Given the description of an element on the screen output the (x, y) to click on. 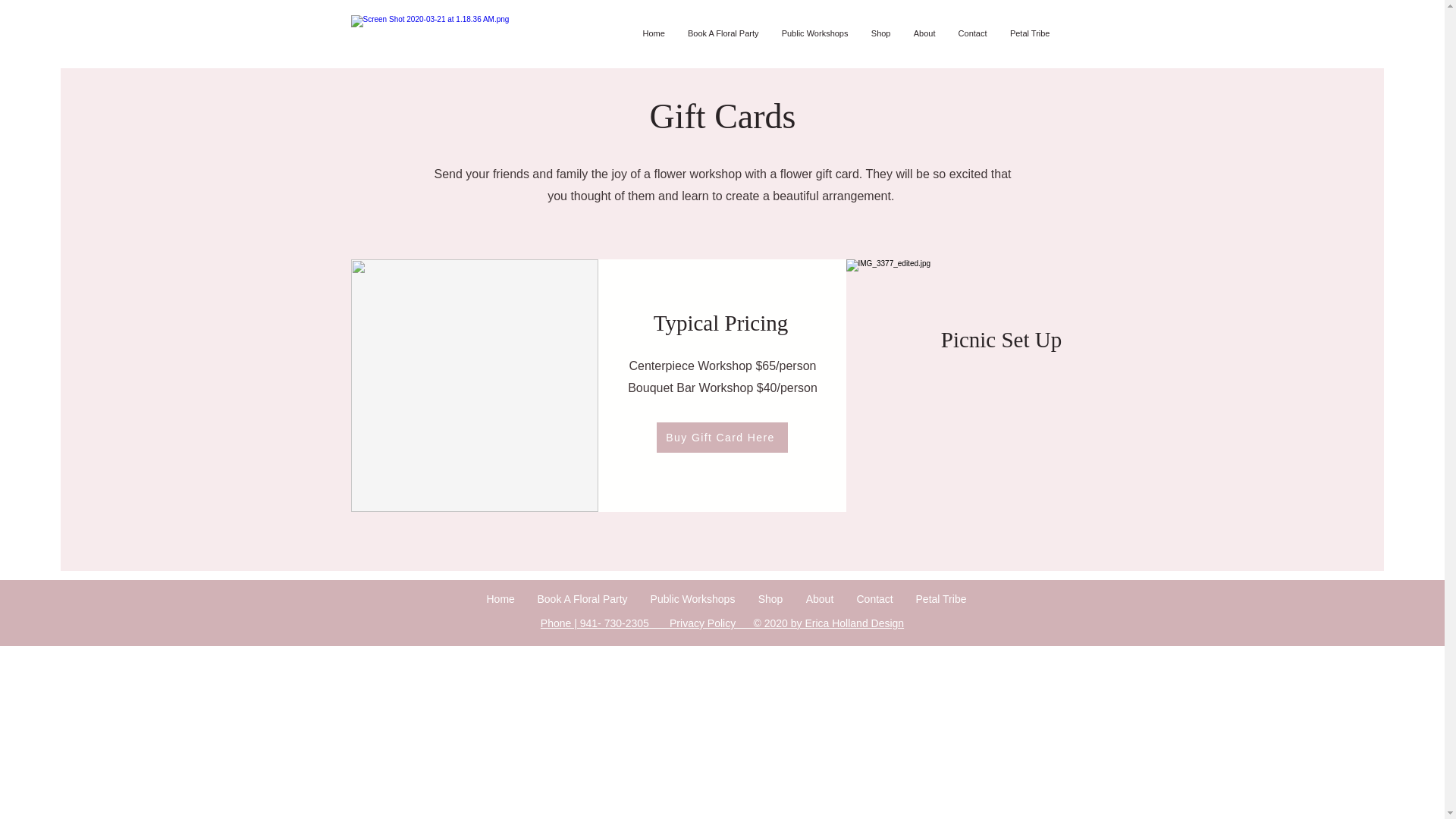
Book A Floral Party (582, 598)
Shop (769, 598)
About (924, 33)
Contact (971, 33)
Shop (881, 33)
Home (499, 598)
Home (652, 33)
Petal Tribe (940, 598)
Petal Tribe (1029, 33)
About (819, 598)
